Given the description of an element on the screen output the (x, y) to click on. 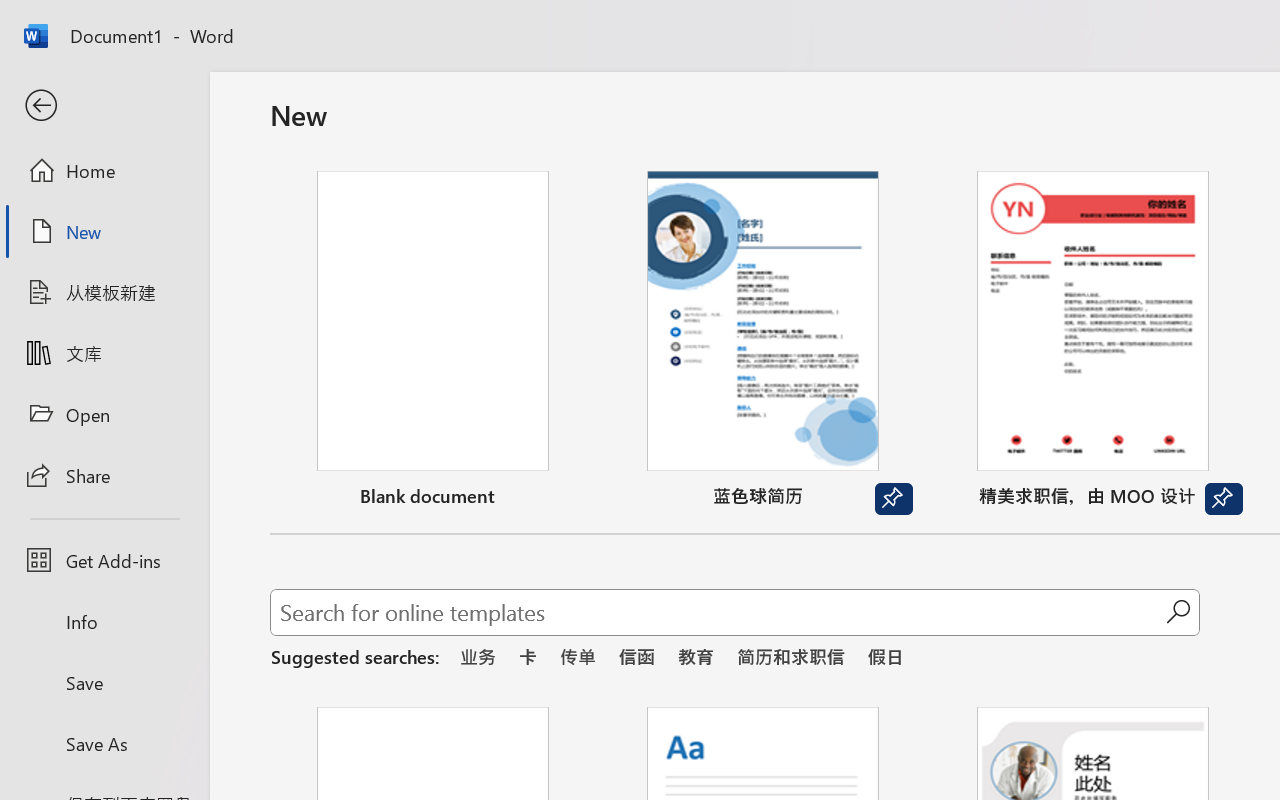
Unpin from list (1223, 499)
Blank document (433, 343)
Start searching (1178, 612)
New (104, 231)
